Given the description of an element on the screen output the (x, y) to click on. 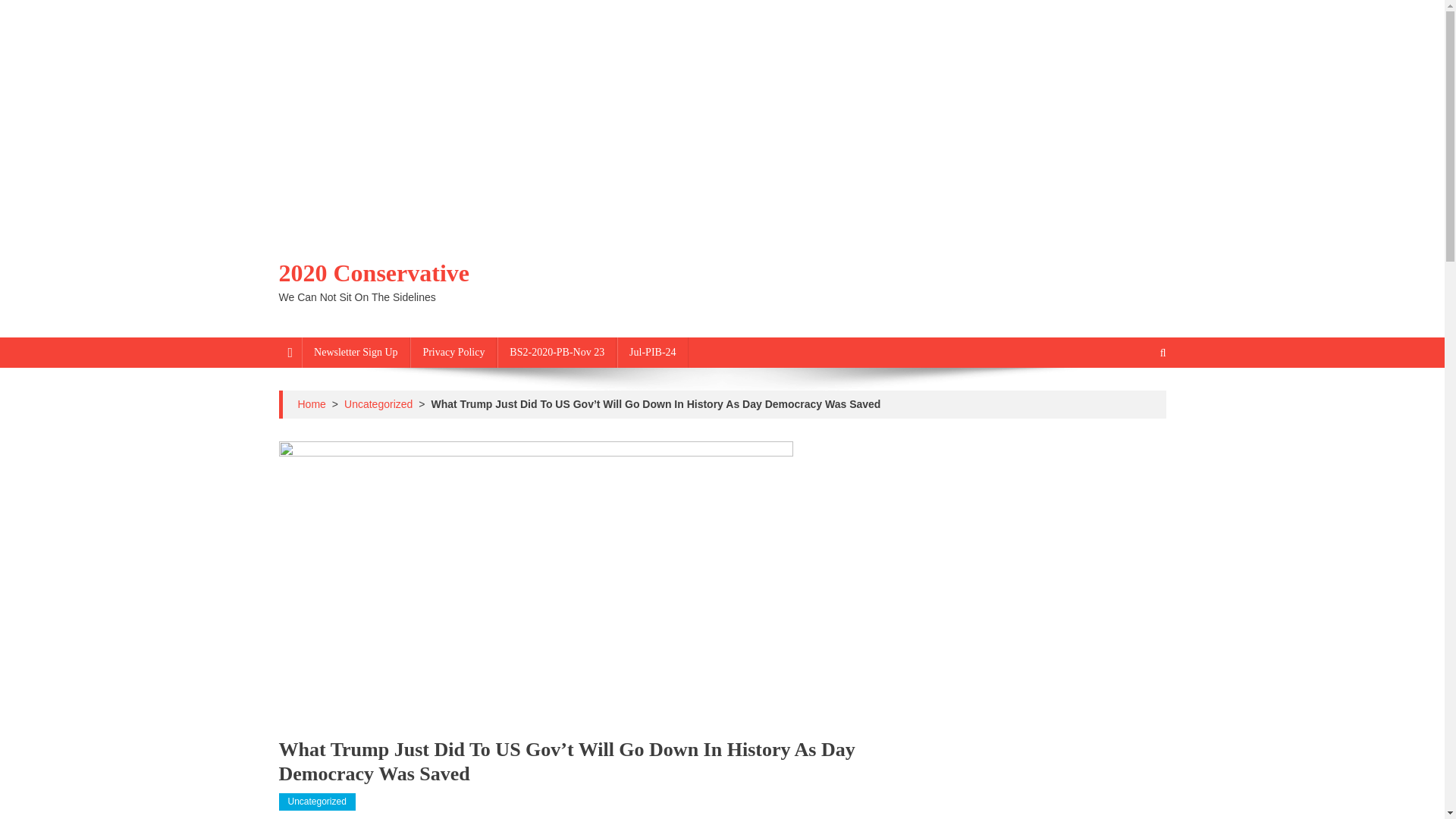
Home (310, 404)
2020 Conservative (374, 272)
Jul-PIB-24 (652, 352)
Newsletter Sign Up (355, 352)
Uncategorized (377, 404)
BS2-2020-PB-Nov 23 (556, 352)
Privacy Policy (453, 352)
Uncategorized (317, 802)
Search (1133, 402)
